Given the description of an element on the screen output the (x, y) to click on. 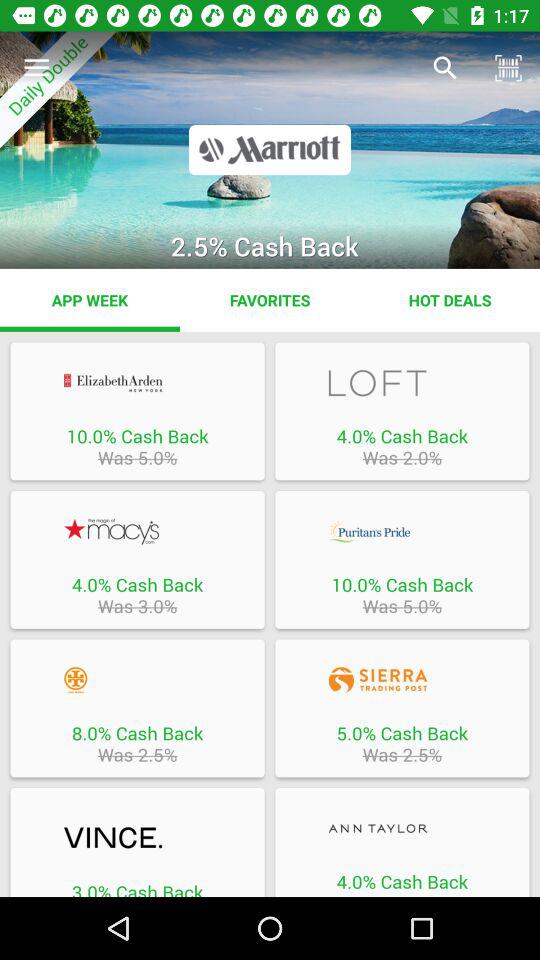
see the companies website (137, 679)
